Given the description of an element on the screen output the (x, y) to click on. 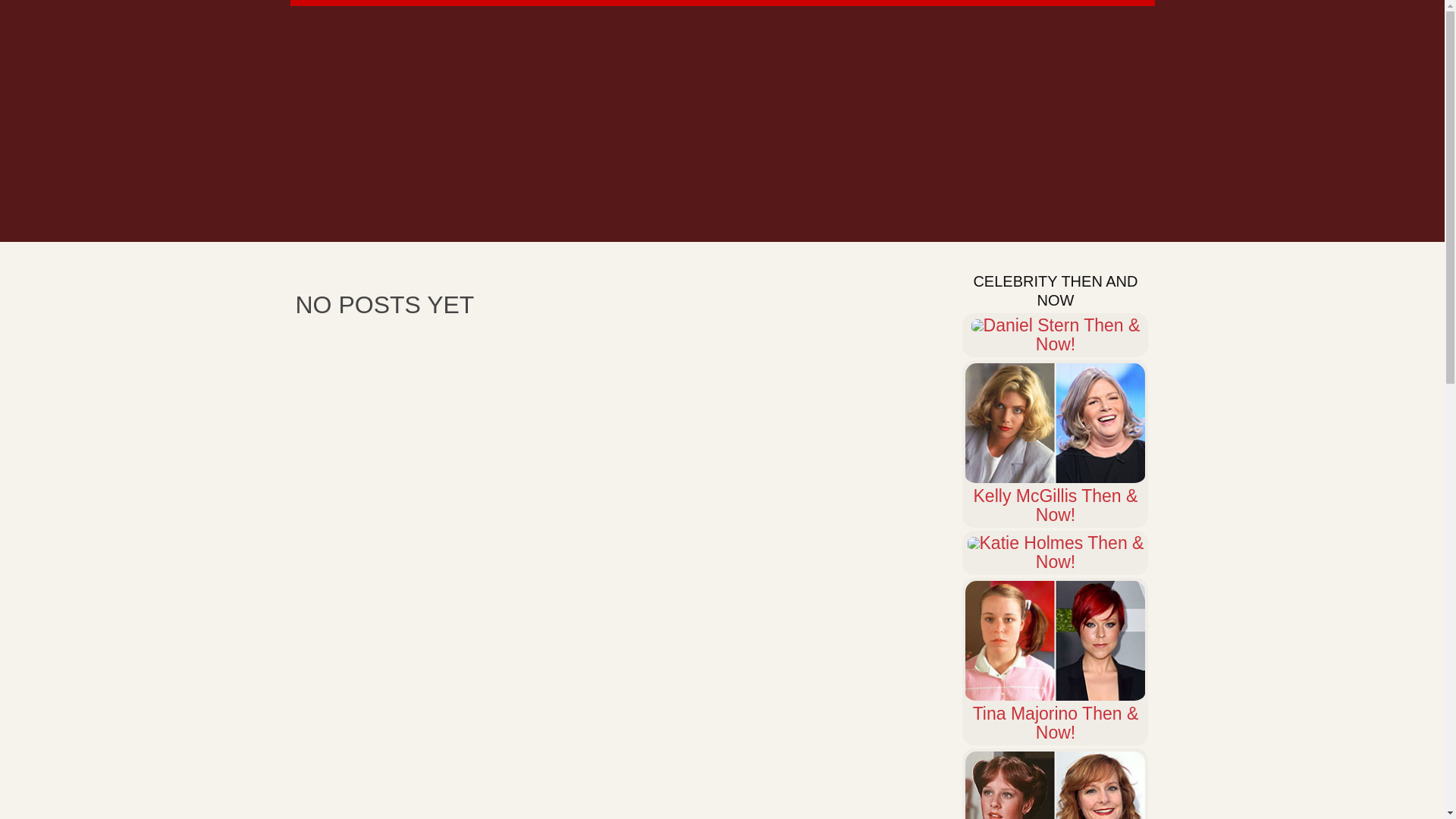
Skip to content (57, 9)
